Given the description of an element on the screen output the (x, y) to click on. 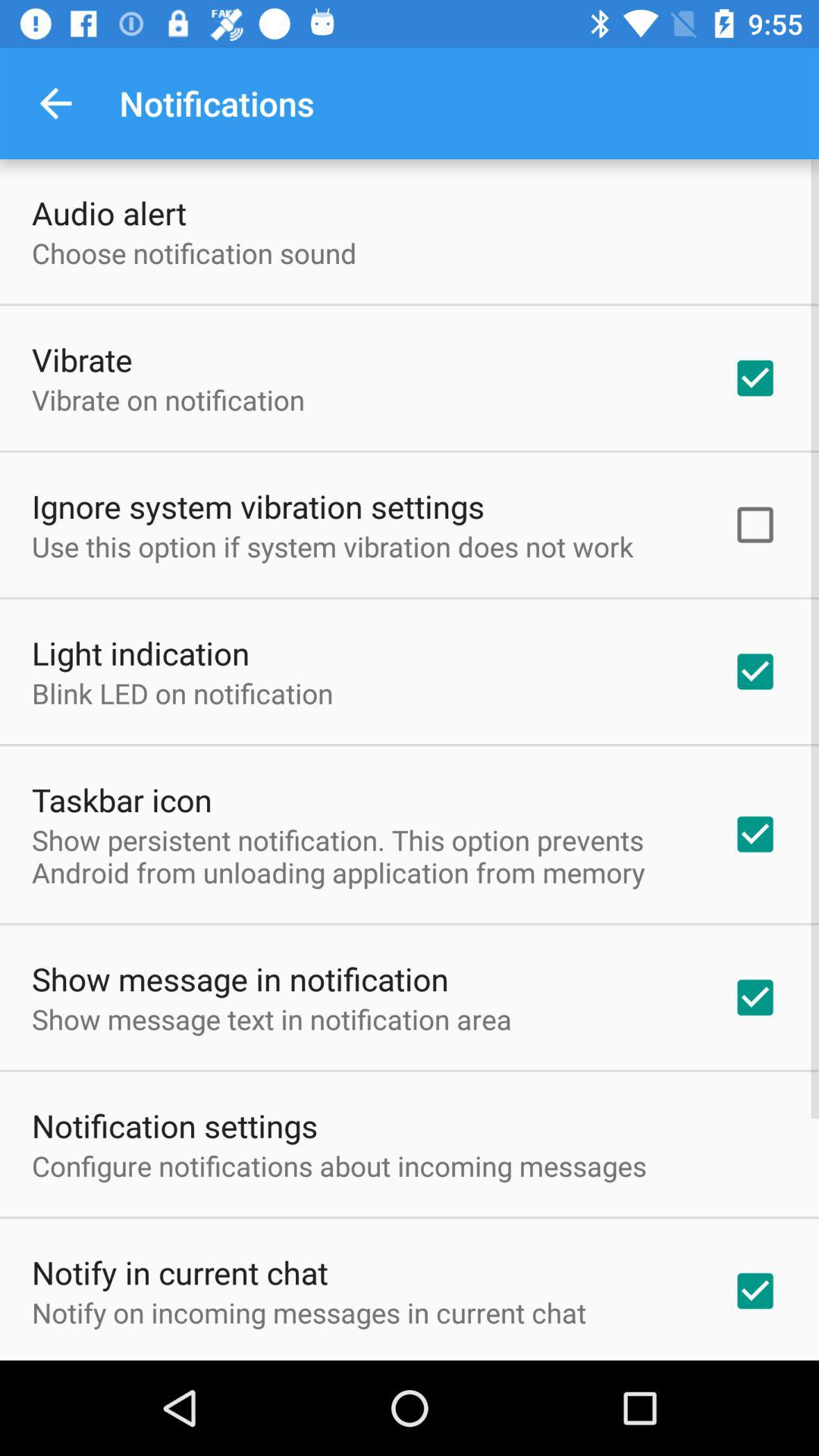
launch the item below notification settings item (338, 1165)
